Given the description of an element on the screen output the (x, y) to click on. 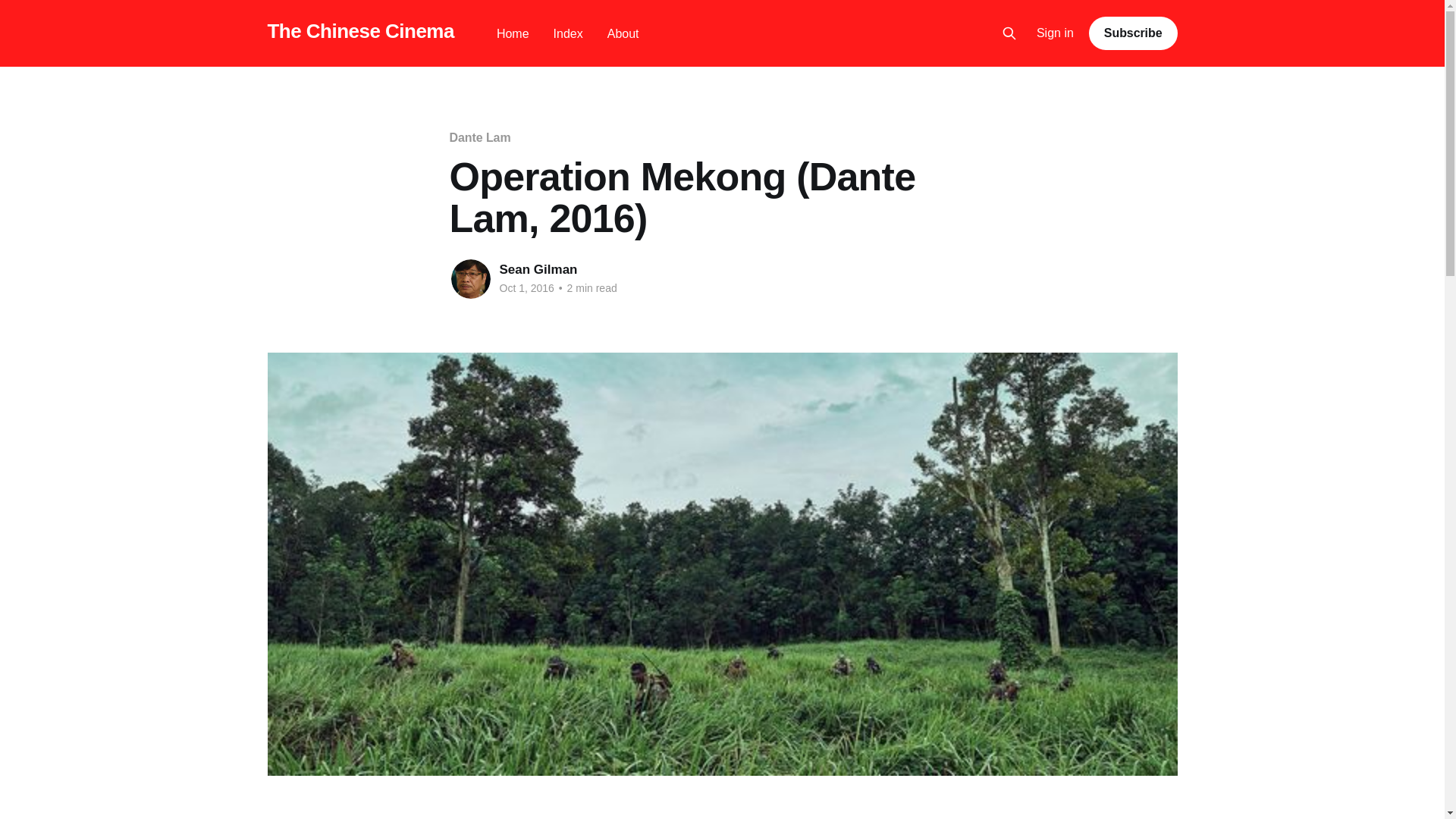
The Chinese Cinema (359, 31)
About (623, 33)
Sign in (1055, 33)
Sean Gilman (537, 269)
Subscribe (1133, 32)
Dante Lam (479, 137)
Home (512, 33)
Index (568, 33)
